Given the description of an element on the screen output the (x, y) to click on. 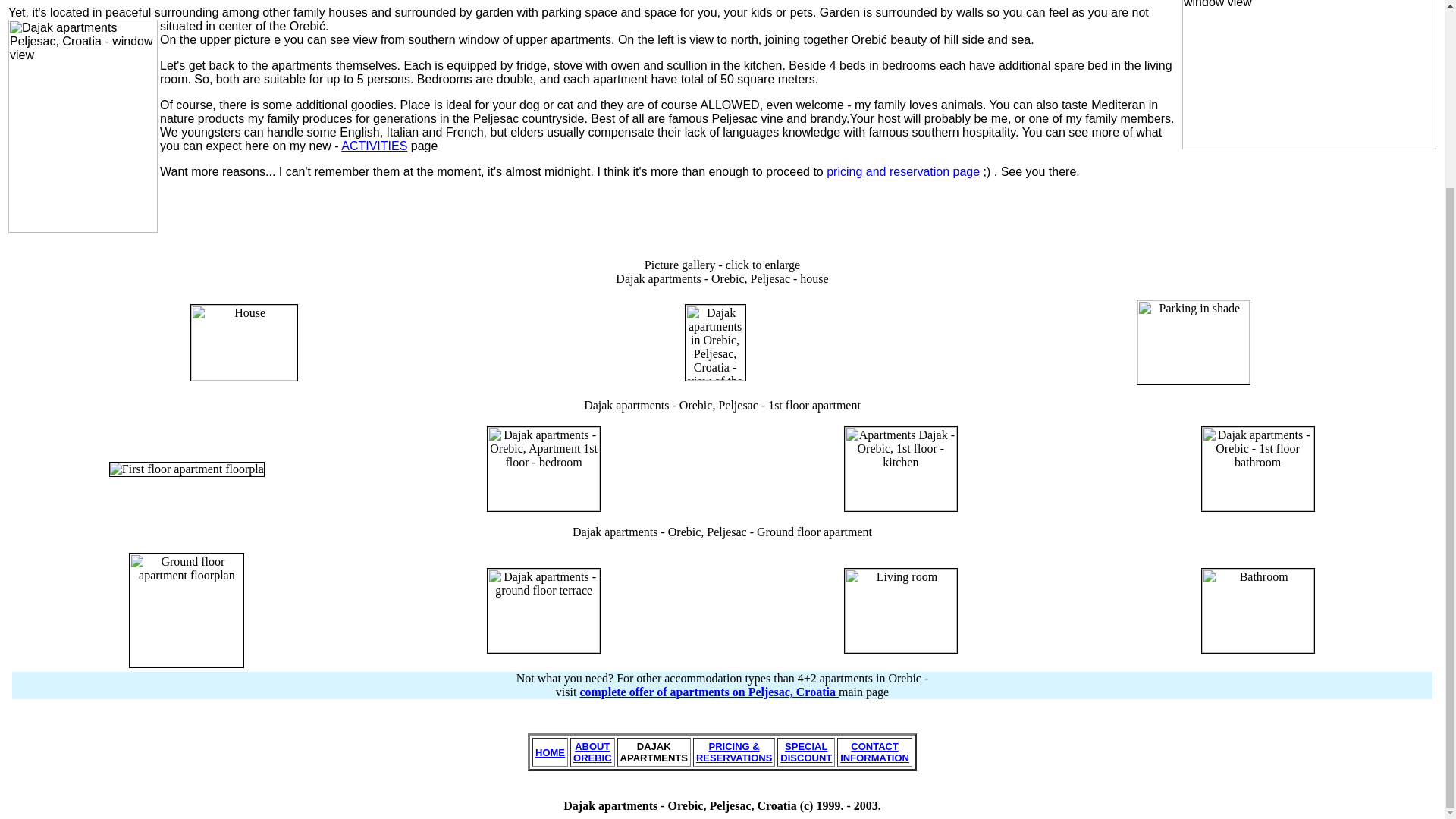
pricing and reservation page (805, 751)
HOME (874, 751)
complete offer of apartments on Peljesac, Croatia (903, 171)
ACTIVITIES (549, 751)
